Given the description of an element on the screen output the (x, y) to click on. 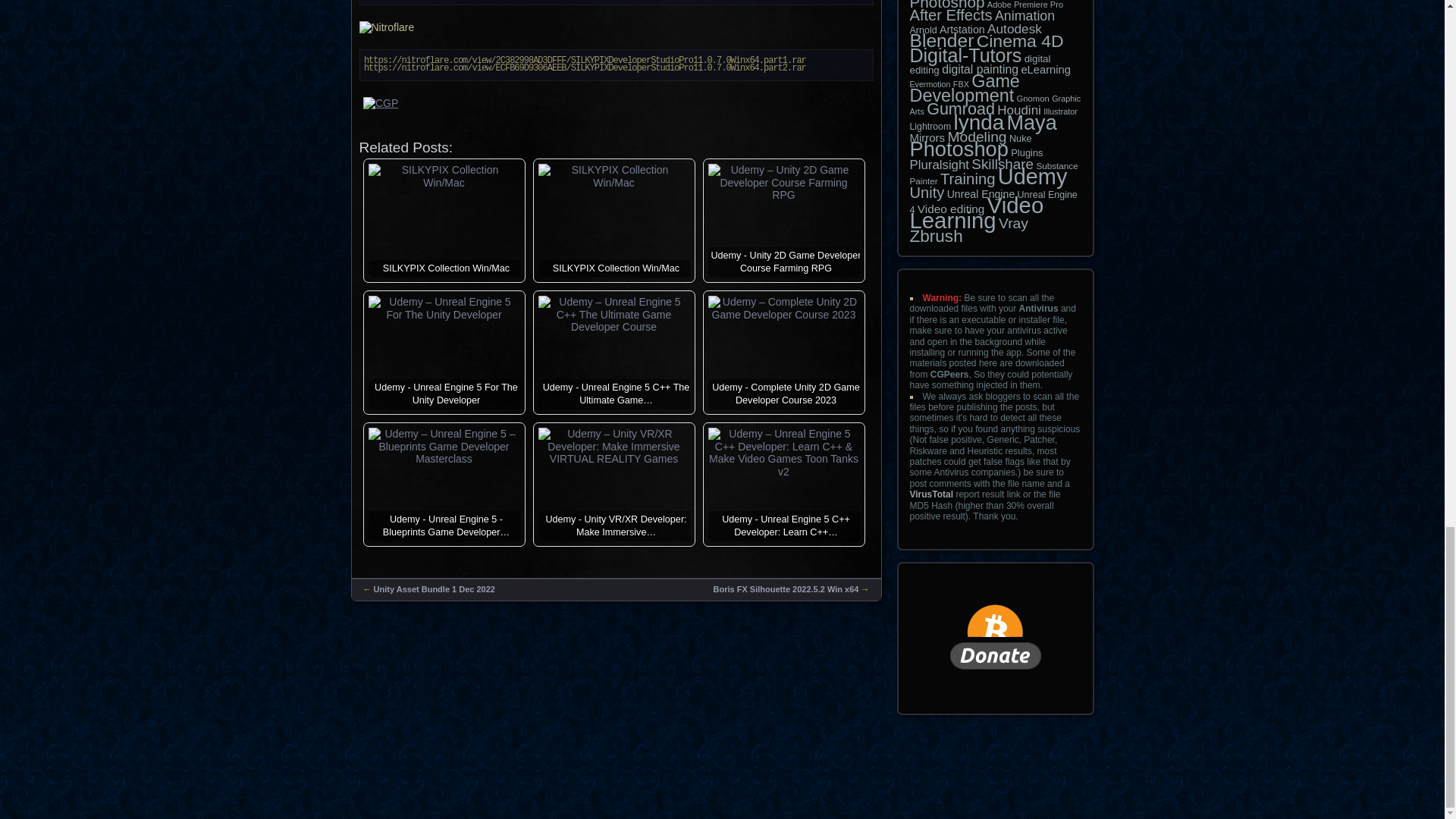
CGPersia (616, 110)
